Given the description of an element on the screen output the (x, y) to click on. 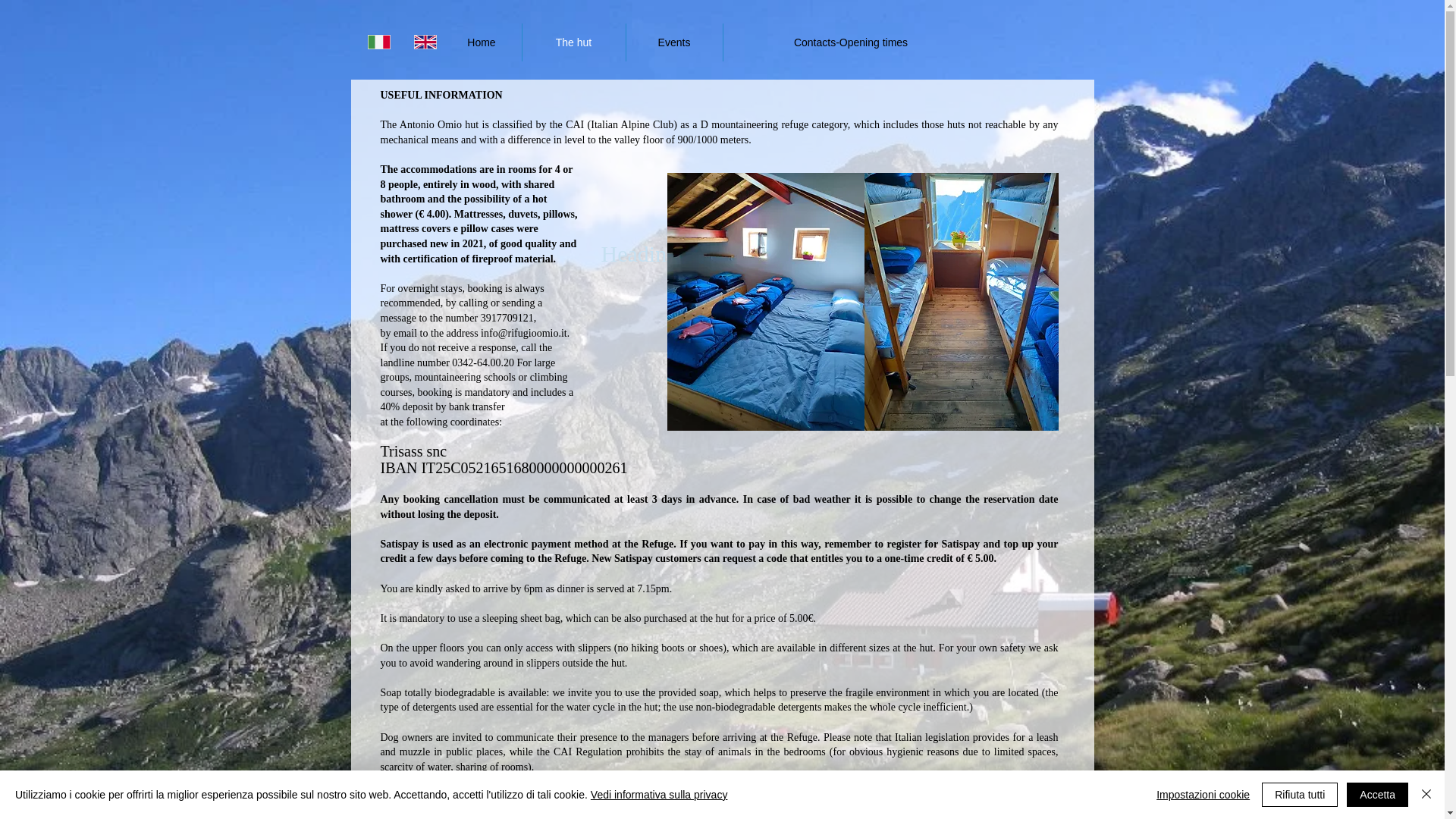
Rifiuta tutti (1300, 794)
Accetta (1376, 794)
Contacts-Opening times (850, 42)
Home (481, 42)
Events (674, 42)
The hut (572, 42)
Vedi informativa sulla privacy (659, 794)
